Given the description of an element on the screen output the (x, y) to click on. 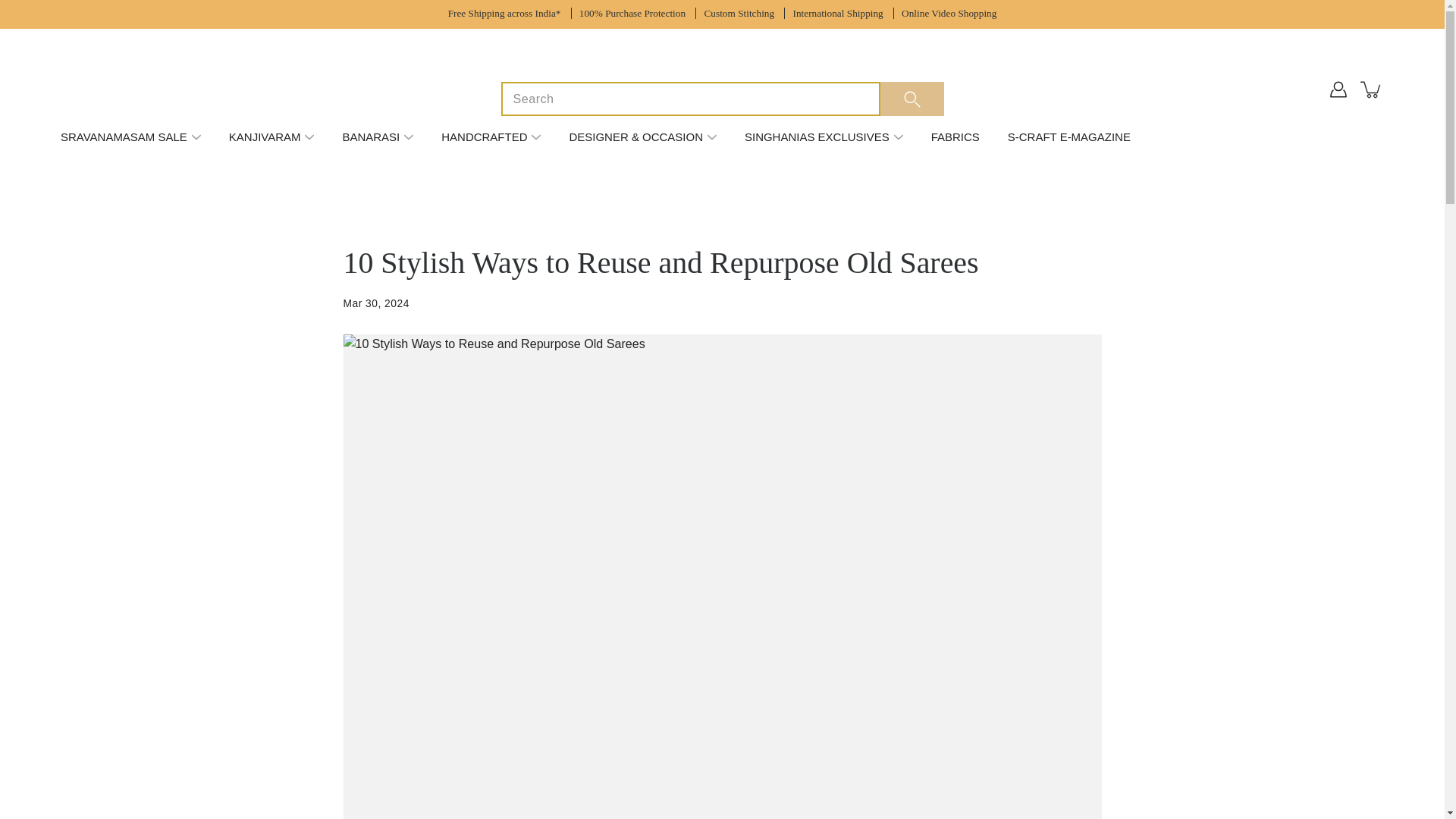
KANJIVARAM (264, 136)
SRAVANAMASAM SALE (124, 136)
BANARASI (370, 136)
